Given the description of an element on the screen output the (x, y) to click on. 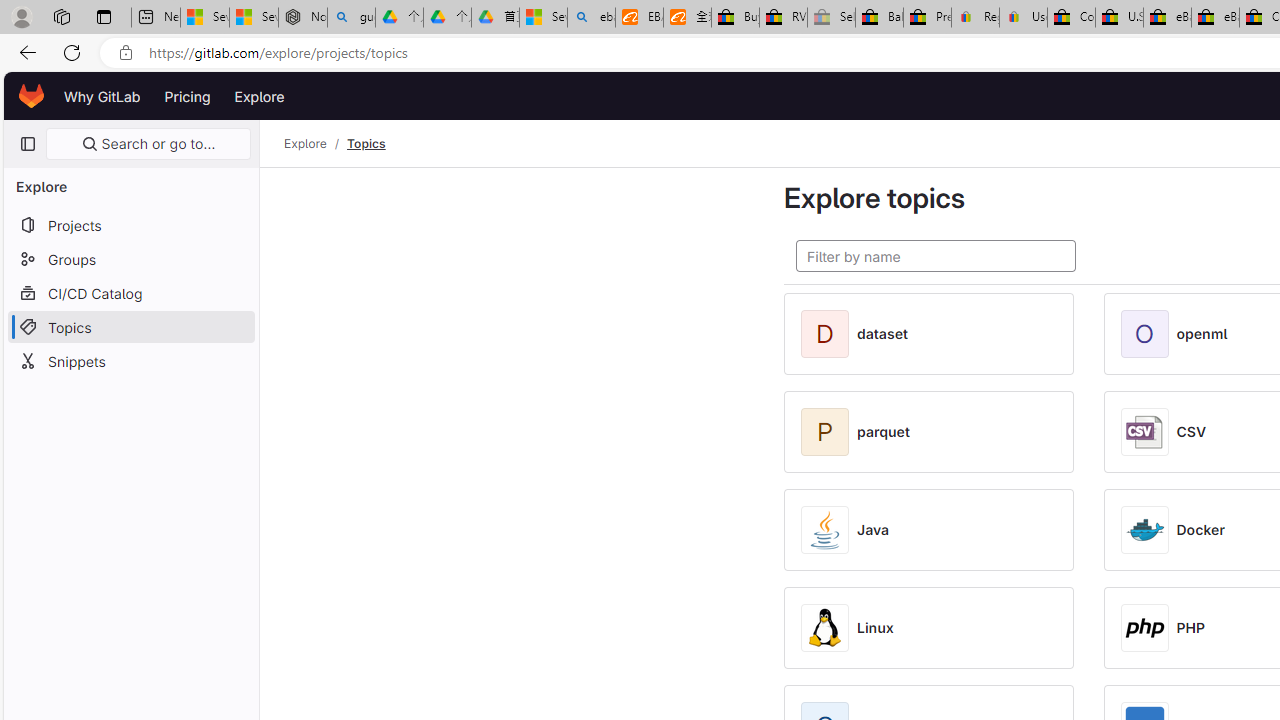
Pricing (187, 95)
Primary navigation sidebar (27, 143)
Pricing (187, 95)
Explore (259, 95)
Consumer Health Data Privacy Policy - eBay Inc. (1071, 17)
CSV (1191, 431)
Projects (130, 224)
Why GitLab (102, 95)
Java (873, 529)
Press Room - eBay Inc. (927, 17)
Projects (130, 224)
